Given the description of an element on the screen output the (x, y) to click on. 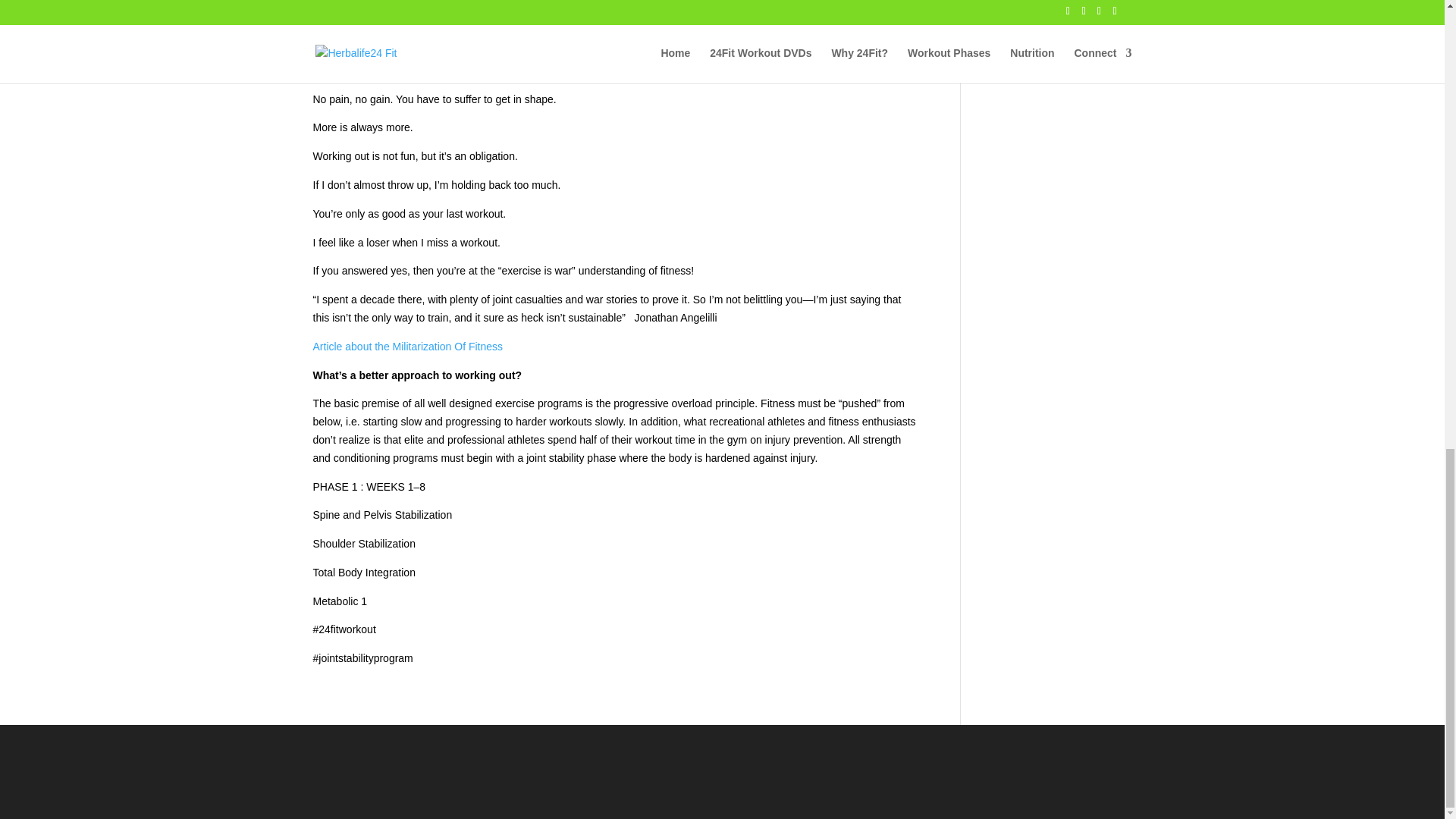
Article about the Militarization Of Fitness (407, 346)
The Militarization Of Fitness (407, 346)
